Given the description of an element on the screen output the (x, y) to click on. 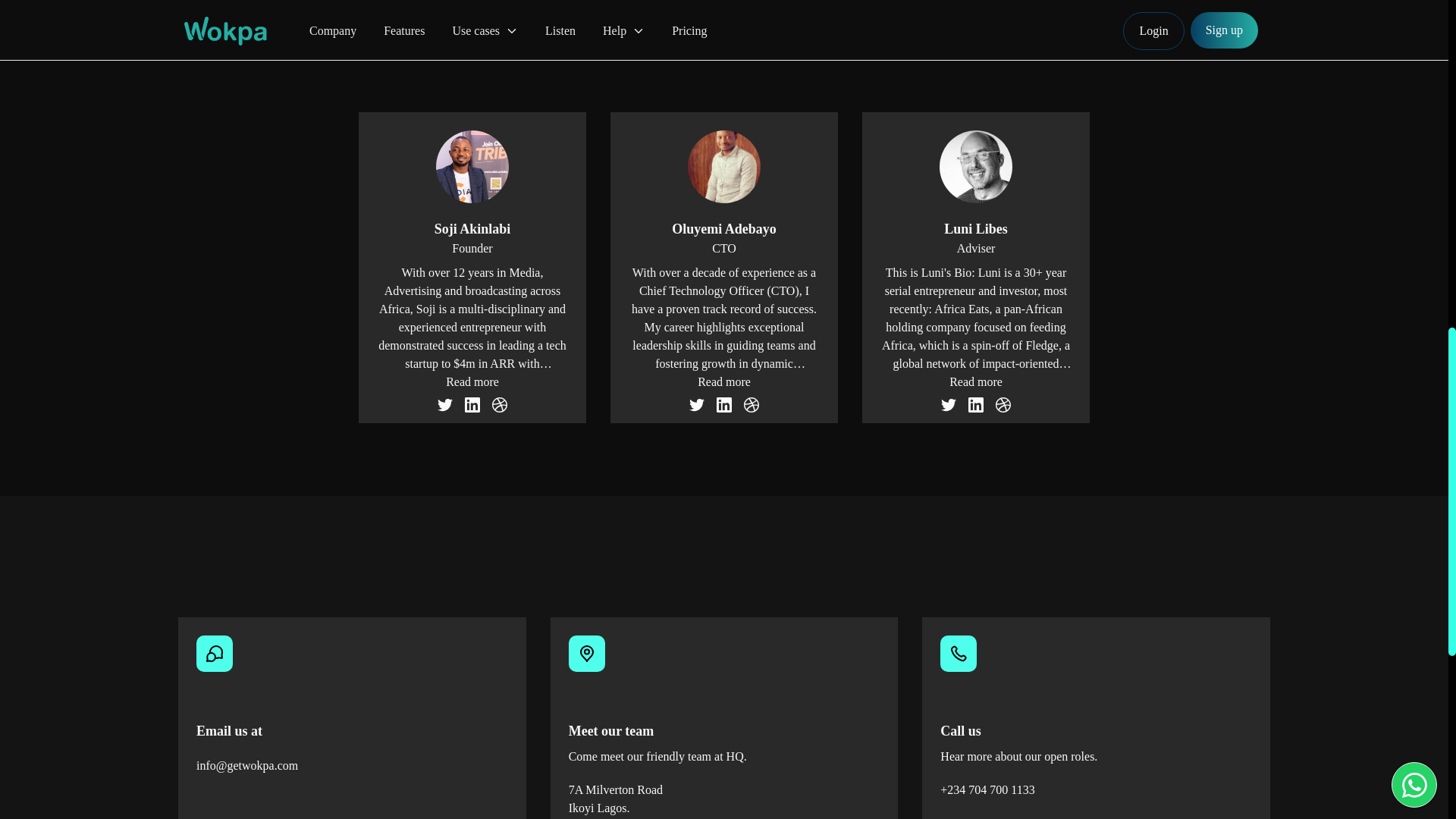
Read more (472, 382)
Read more (724, 382)
Read more (976, 382)
